Given the description of an element on the screen output the (x, y) to click on. 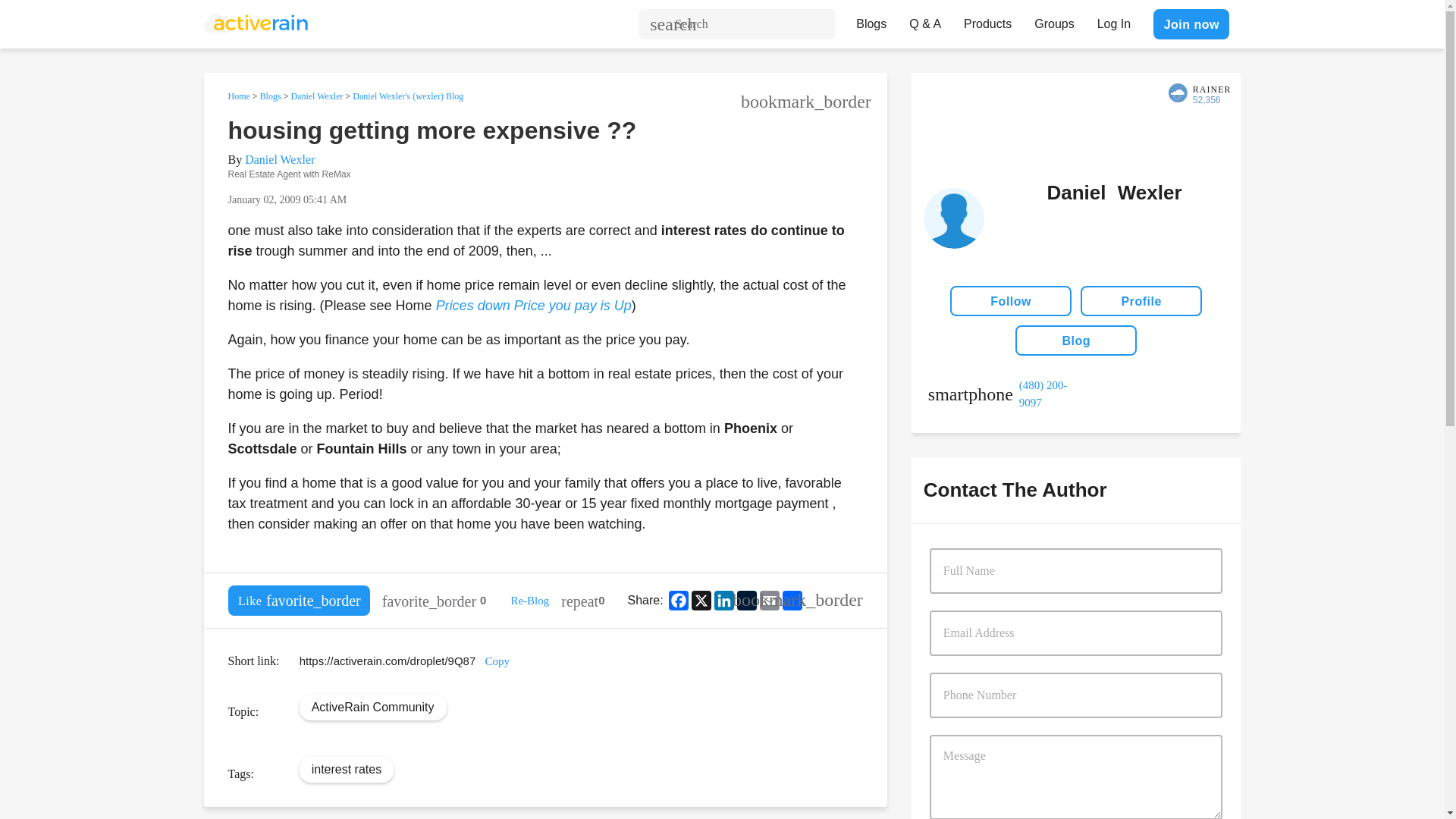
Facebook (678, 600)
Prices down Price you pay is Up (533, 305)
Join now (1190, 24)
Groups (1053, 19)
Home (237, 95)
Blogs (870, 19)
ActiveRain Community (372, 707)
Daniel Wexler (315, 95)
repeat 0 (582, 600)
Log In (1113, 19)
Blogs (270, 95)
Email (769, 600)
Daniel Wexler (279, 159)
home prices down cost goes up  (533, 305)
Copy (496, 661)
